Given the description of an element on the screen output the (x, y) to click on. 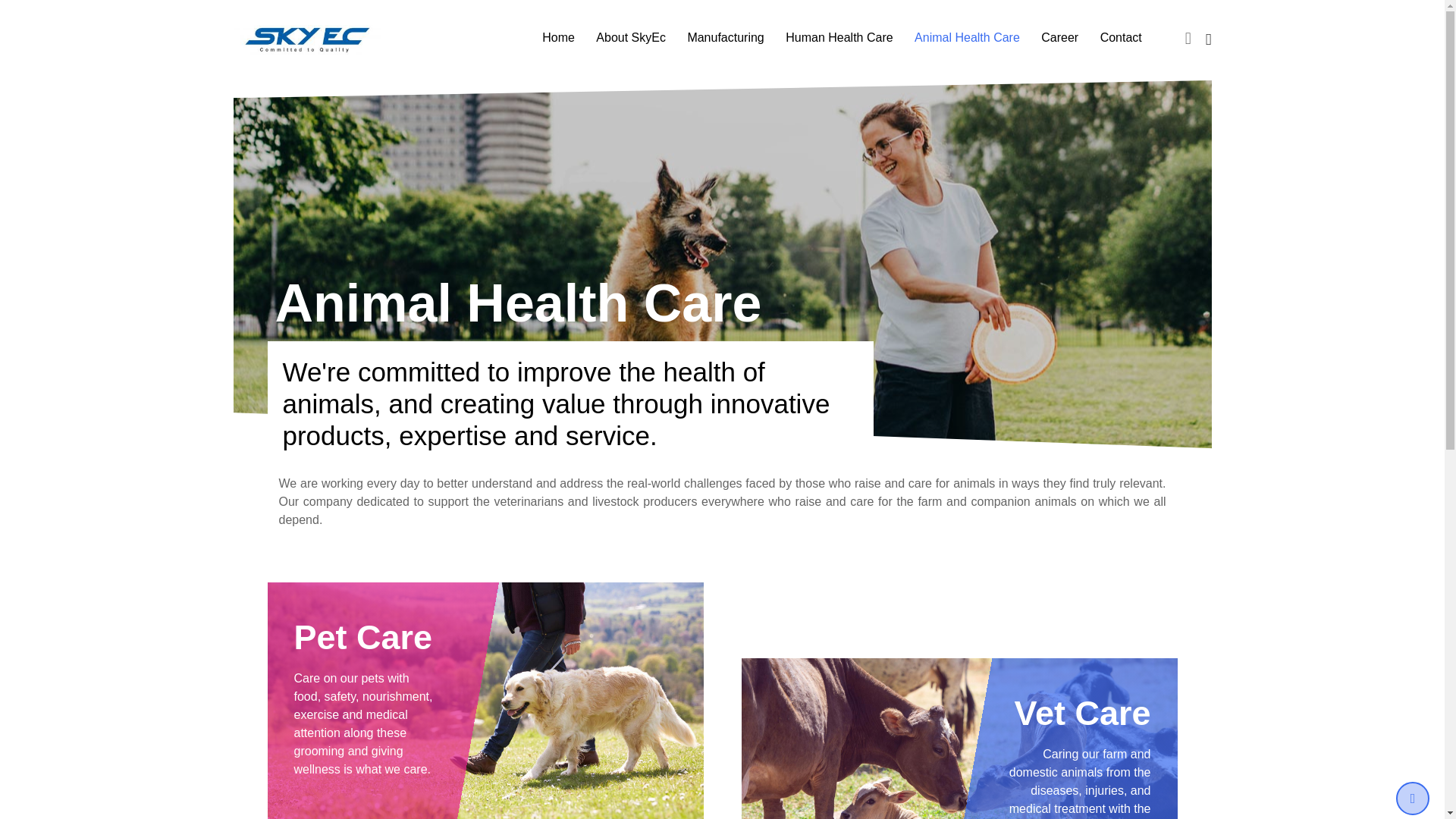
Human Health Care (838, 38)
About SkyEc (630, 38)
Pet Care (363, 637)
Manufacturing (725, 38)
Vet Care (1081, 712)
Animal Health Care (967, 38)
